Given the description of an element on the screen output the (x, y) to click on. 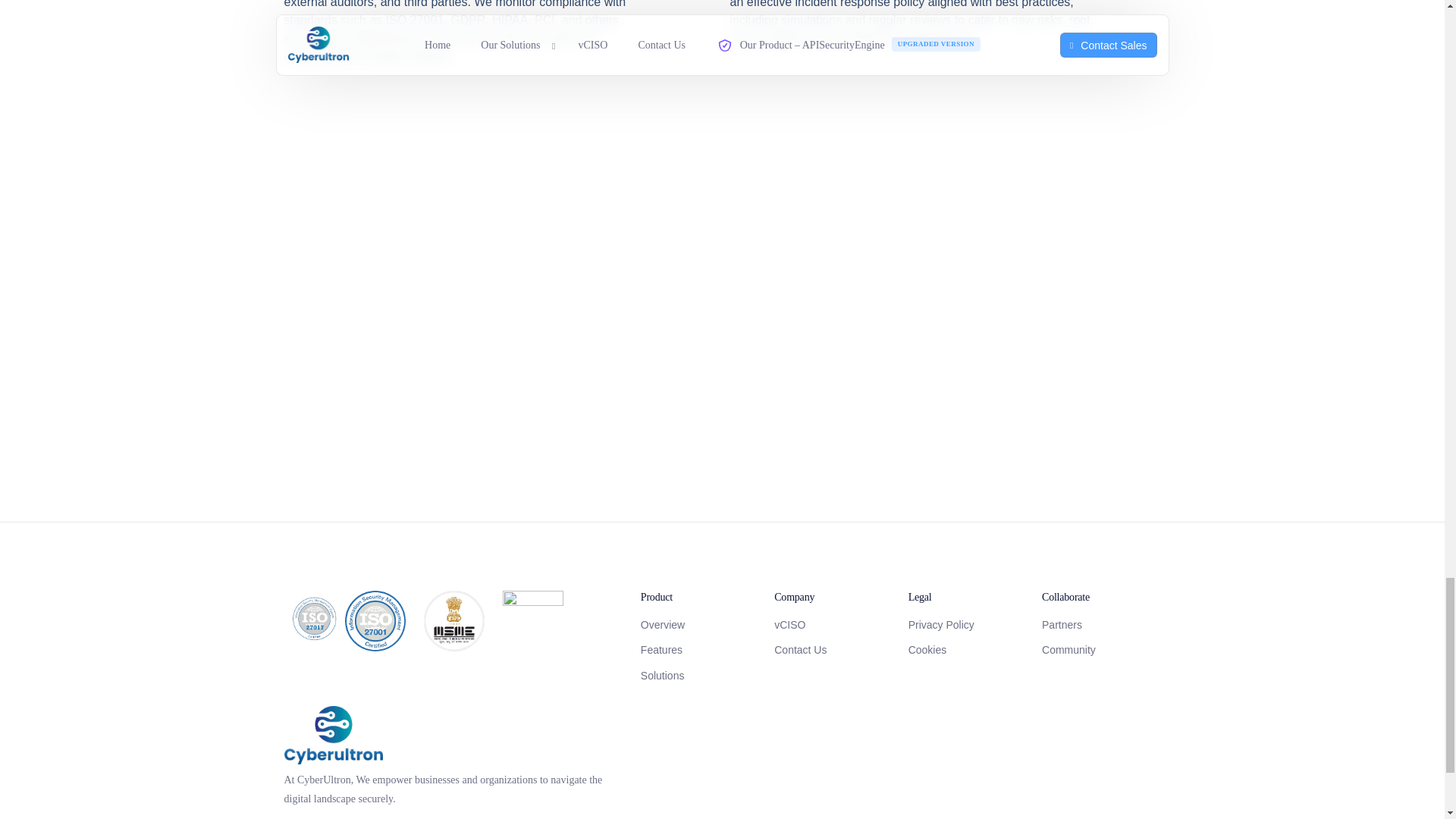
Partners (1101, 624)
Privacy Policy (967, 624)
Cookies (967, 650)
Community (1101, 650)
Contact Us (833, 650)
vCISO (833, 624)
Solutions (699, 675)
Features (699, 650)
Overview (699, 624)
